Given the description of an element on the screen output the (x, y) to click on. 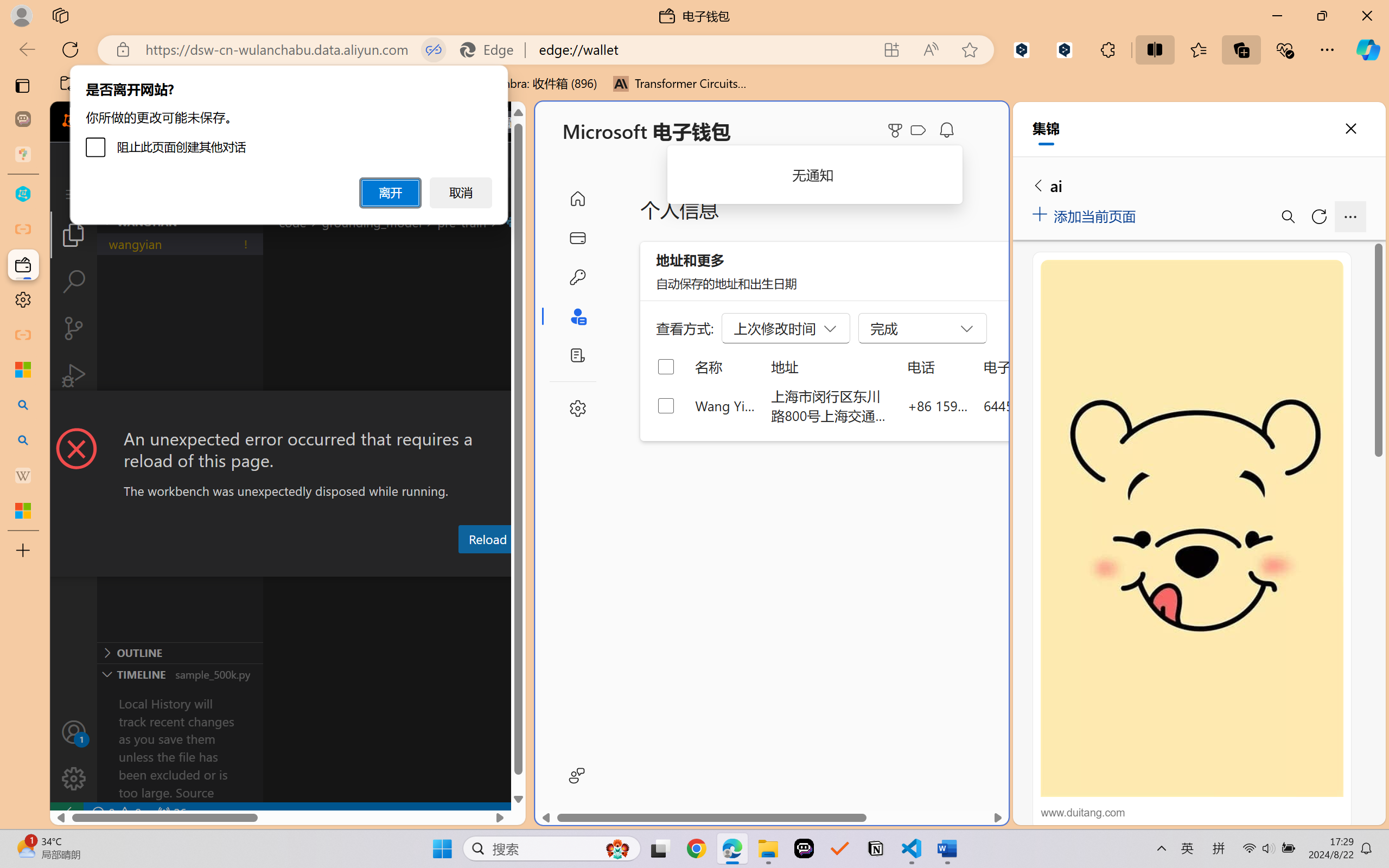
Class: actions-container (287, 410)
Accounts - Sign in requested (73, 732)
Copilot (Ctrl+Shift+.) (1368, 49)
